Given the description of an element on the screen output the (x, y) to click on. 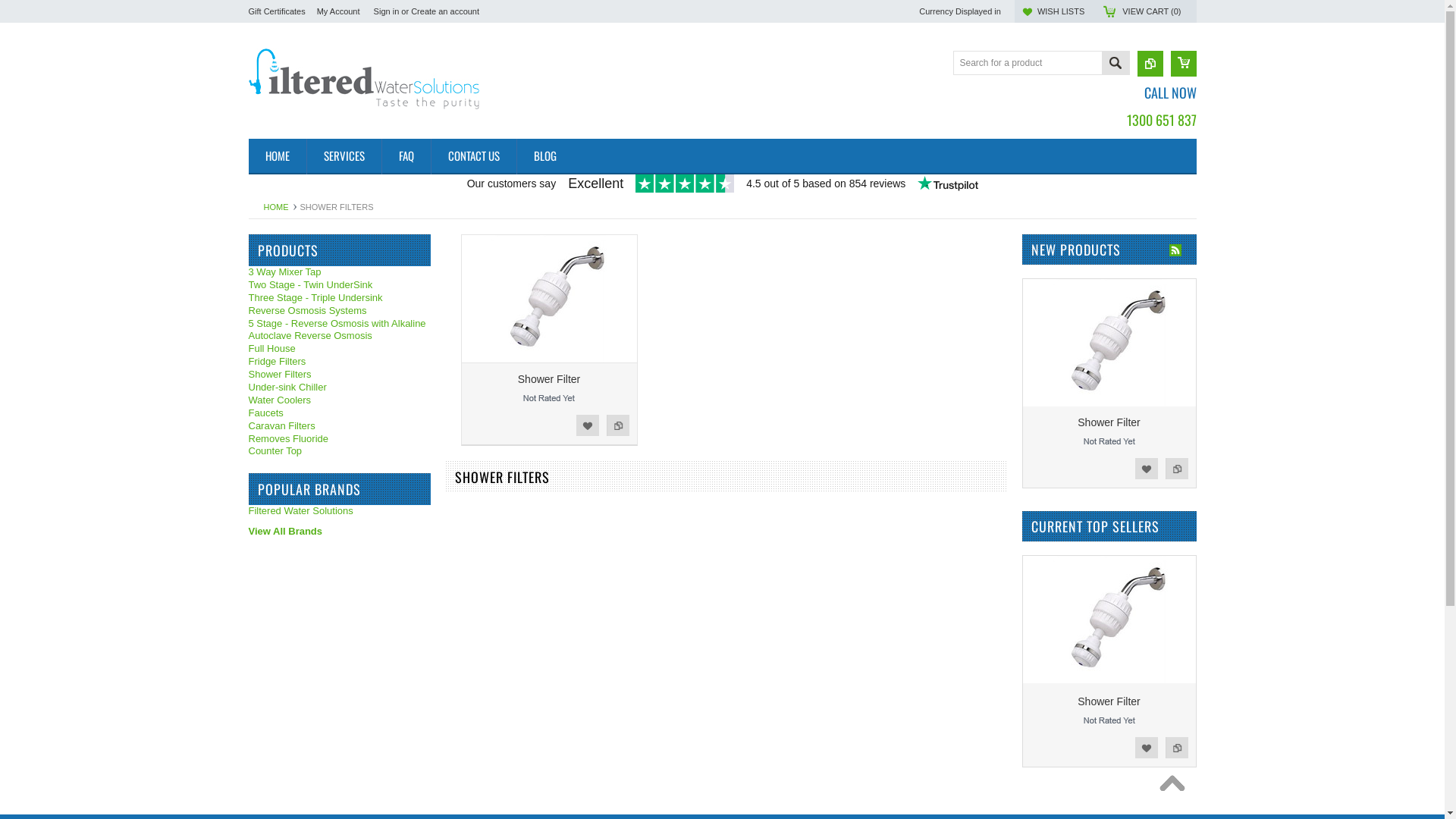
Removes Fluoride Element type: text (339, 439)
5 Stage - Reverse Osmosis with Alkaline Element type: text (339, 323)
SEARCH Element type: text (1114, 64)
3 Way Mixer Tap Element type: text (339, 272)
Water Coolers Element type: text (339, 400)
Add to Compare Element type: text (617, 425)
View Cart Element type: hover (1183, 63)
Shower Filter Element type: text (548, 379)
FAQ Element type: text (404, 156)
VIEW CART (0) Element type: text (1151, 10)
Create an account Element type: text (445, 11)
Shower Filters Element type: text (339, 374)
Fridge Filters Element type: text (339, 361)
Reverse Osmosis Systems Element type: text (339, 310)
1300 651 837 Element type: text (1161, 118)
CONTACT US Element type: text (473, 156)
BLOG Element type: text (543, 156)
Two Stage - Twin UnderSink Element type: text (339, 285)
Faucets Element type: text (339, 413)
Full House Element type: text (339, 348)
Three Stage - Triple Undersink Element type: text (339, 297)
Add to Compare Element type: text (1175, 468)
Compare Product Element type: hover (1150, 63)
Scroll to Top Element type: hover (1175, 787)
New Products RSS Feed for Shower Filters Element type: hover (1175, 250)
Shower Filter Element type: text (1108, 701)
WISH LISTS Element type: text (1060, 10)
Caravan Filters Element type: text (339, 426)
Add to Compare Element type: text (1175, 747)
HOME Element type: text (277, 156)
View All Brands Element type: text (285, 530)
Add to Wishlist Element type: text (587, 425)
Sign in Element type: text (386, 11)
Add to Wishlist Element type: text (1145, 468)
Add to Wishlist Element type: text (1145, 747)
  Element type: text (1175, 787)
HOME Element type: text (279, 206)
Autoclave Reverse Osmosis Element type: text (339, 335)
My Account Element type: text (338, 10)
Counter Top Element type: text (339, 451)
Under-sink Chiller Element type: text (339, 387)
Shower Filter Element type: text (1108, 422)
SERVICES Element type: text (343, 156)
Gift Certificates Element type: text (276, 10)
Filtered Water Solutions Element type: text (300, 510)
Customer reviews powered by Trustpilot Element type: hover (722, 184)
